Given the description of an element on the screen output the (x, y) to click on. 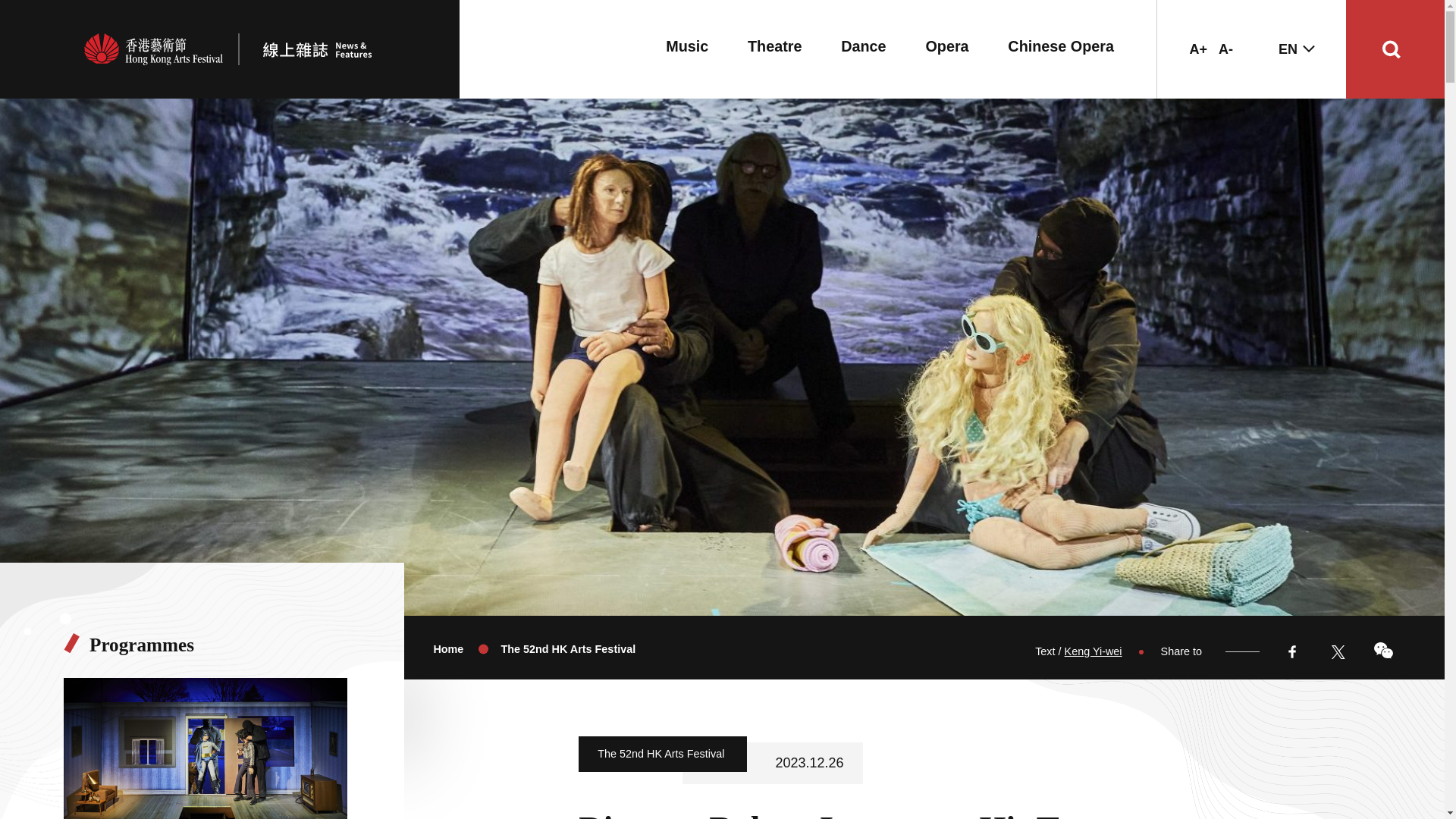
Chinese Opera (1060, 45)
Theatre (775, 45)
Dance (863, 45)
Home (447, 648)
Keng Yi-wei (1093, 651)
Music (686, 45)
The 52nd HK Arts Festival (567, 648)
Opera (946, 45)
